Given the description of an element on the screen output the (x, y) to click on. 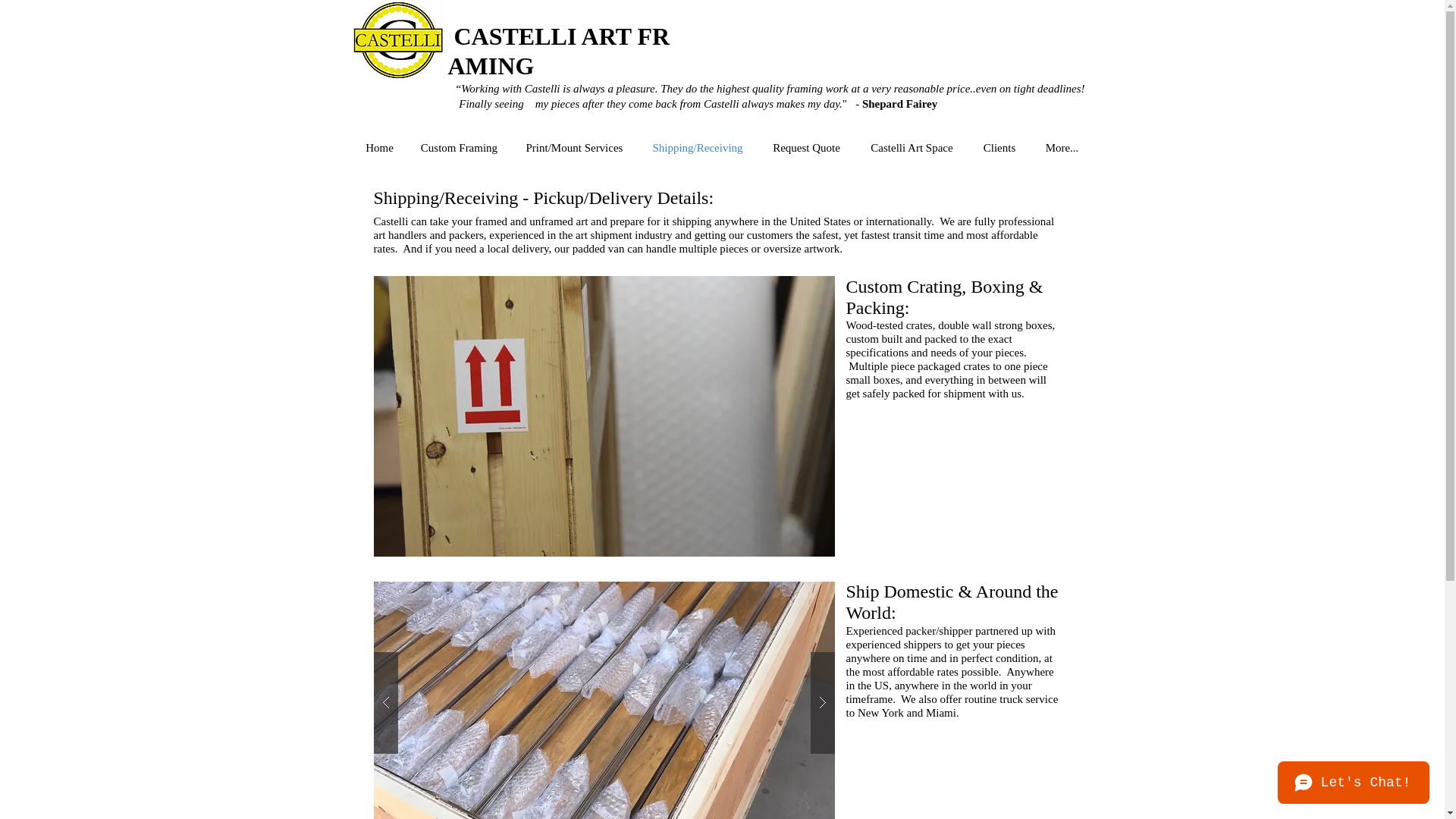
Request Quote (806, 148)
Castelli Art Space (912, 148)
Custom Framing (459, 148)
Home (379, 148)
Clients (999, 148)
 CASTELLI ART FRAMING (557, 52)
